Given the description of an element on the screen output the (x, y) to click on. 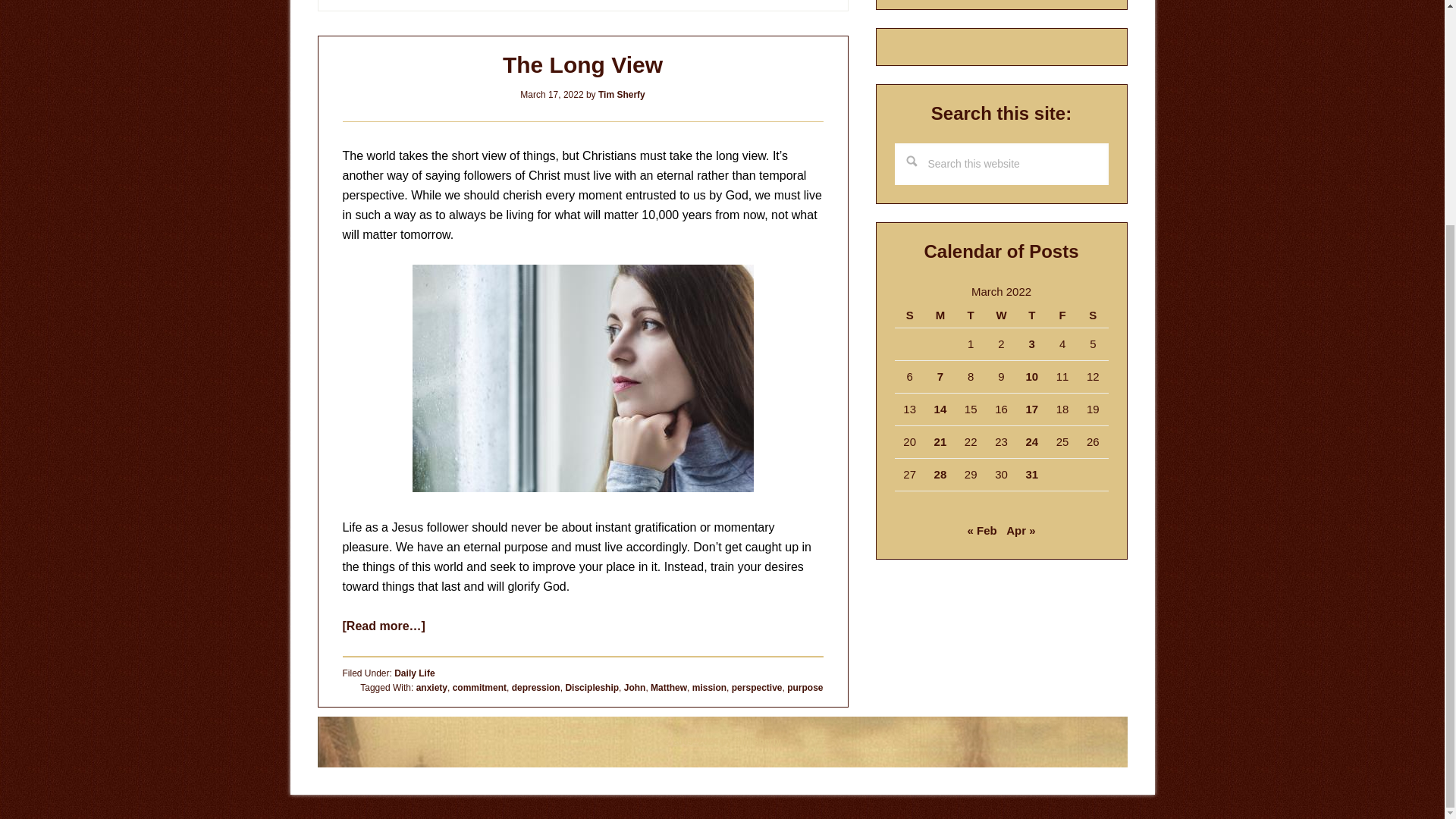
mission (709, 687)
Sunday (909, 315)
purpose (804, 687)
anxiety (431, 687)
10 (1031, 376)
perspective (757, 687)
Monday (939, 315)
Wednesday (1000, 315)
The Long View (582, 64)
